Given the description of an element on the screen output the (x, y) to click on. 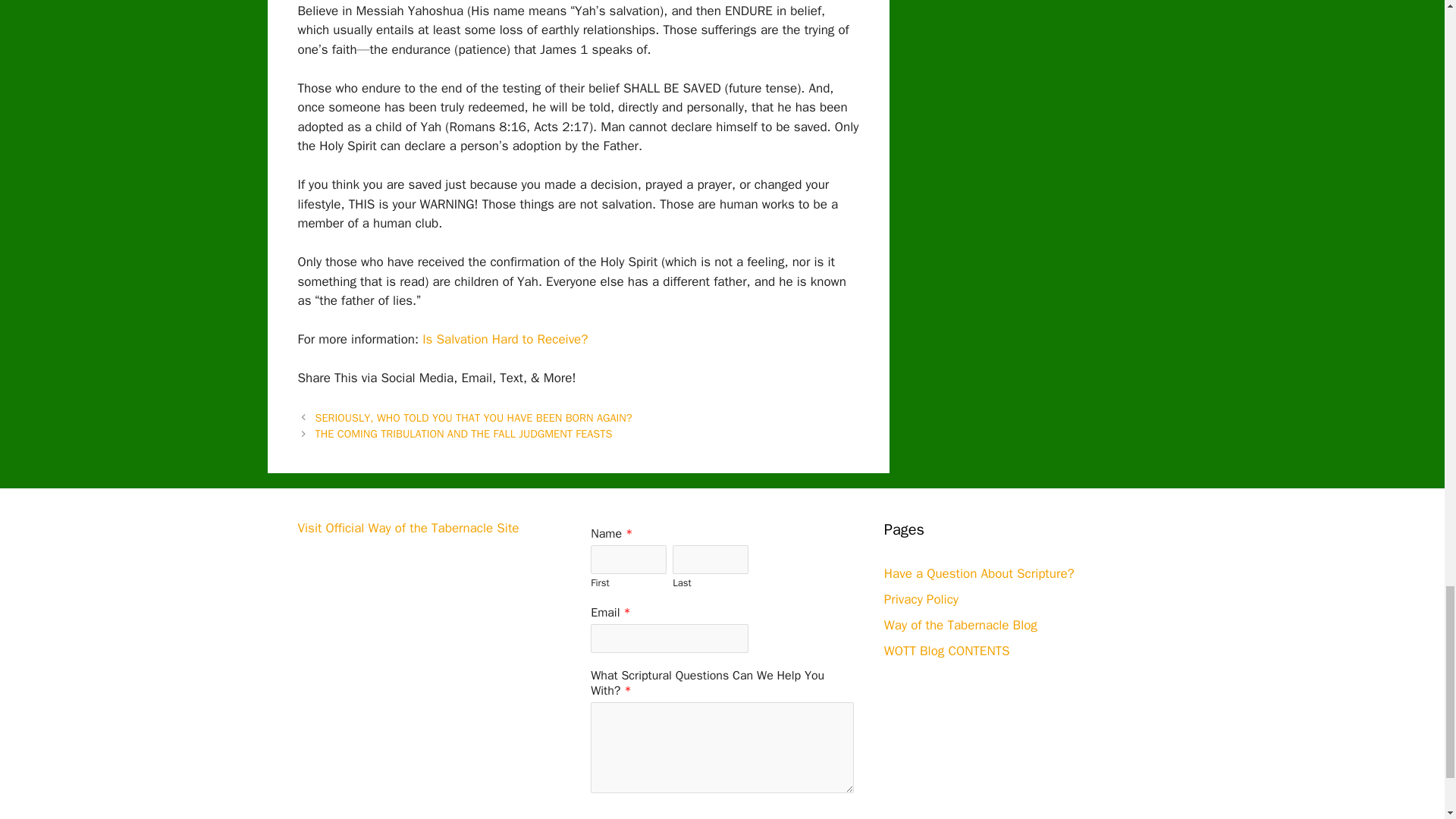
THE COMING TRIBULATION AND THE FALL JUDGMENT FEASTS (463, 433)
Is Salvation Hard to Receive? (505, 339)
SERIOUSLY, WHO TOLD YOU THAT YOU HAVE BEEN BORN AGAIN? (473, 418)
